Given the description of an element on the screen output the (x, y) to click on. 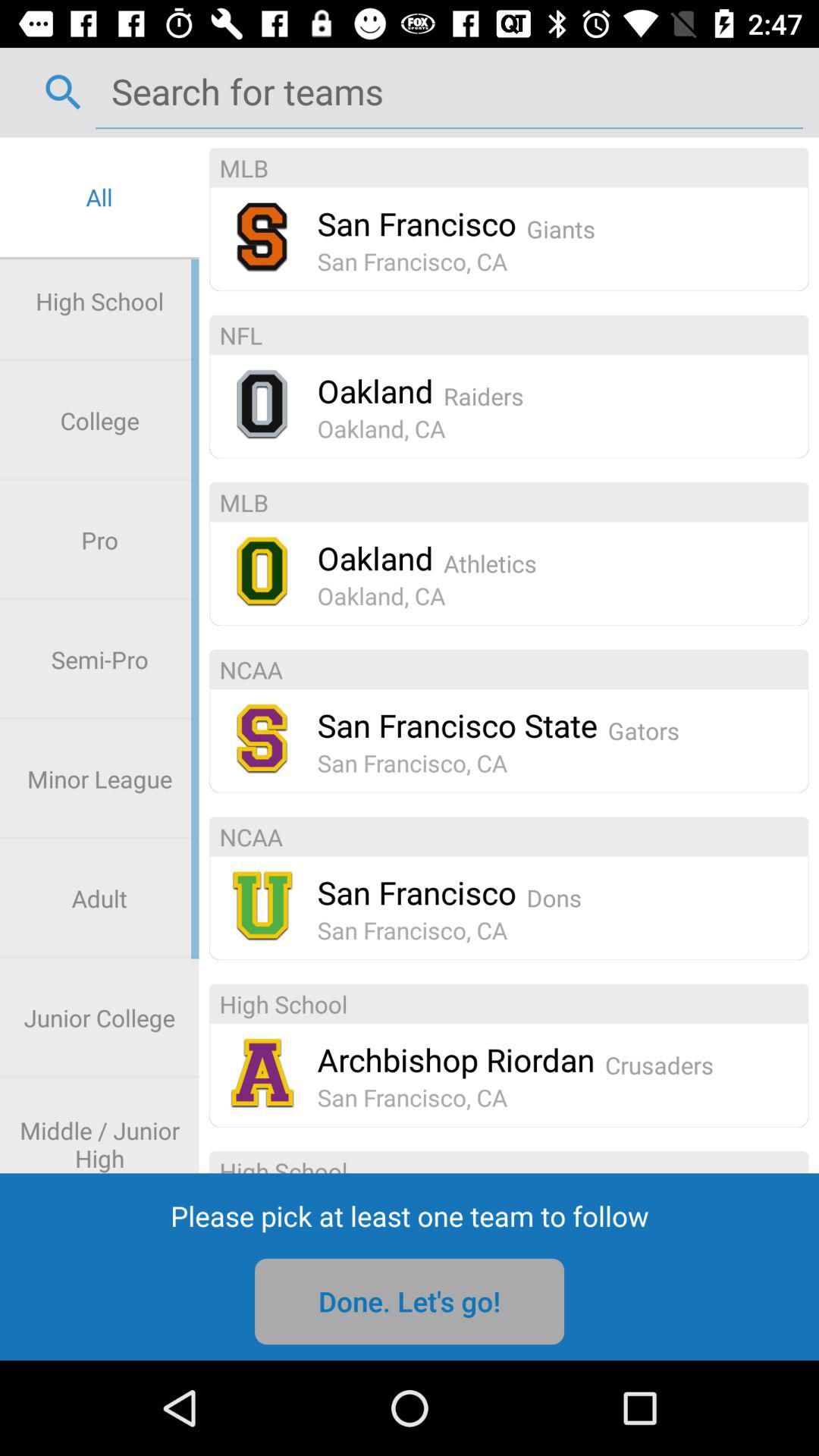
search for teams (449, 91)
